Given the description of an element on the screen output the (x, y) to click on. 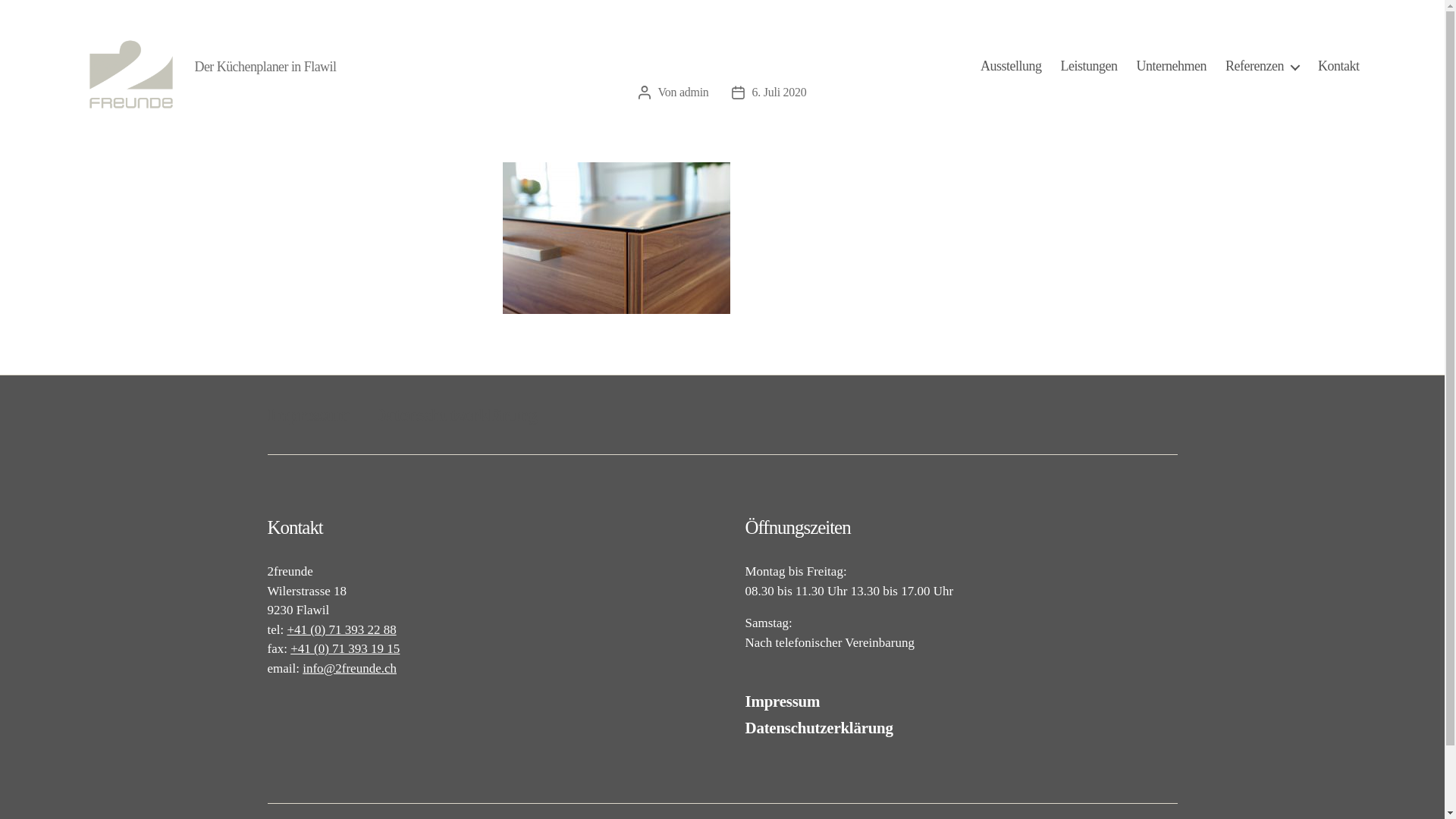
6. Juli 2020 Element type: text (779, 91)
Referenzen Element type: text (1262, 66)
Ausstellung Element type: text (1010, 66)
Kontakt Element type: text (1338, 66)
+41 (0) 71 393 19 15 Element type: text (344, 648)
info@2freunde.ch Element type: text (349, 668)
+41 (0) 71 393 22 88 Element type: text (340, 629)
Leistungen Element type: text (1088, 66)
Impressum Element type: text (781, 701)
Unternehmen Element type: text (1171, 66)
admin Element type: text (694, 91)
Impressum Element type: text (308, 414)
